Given the description of an element on the screen output the (x, y) to click on. 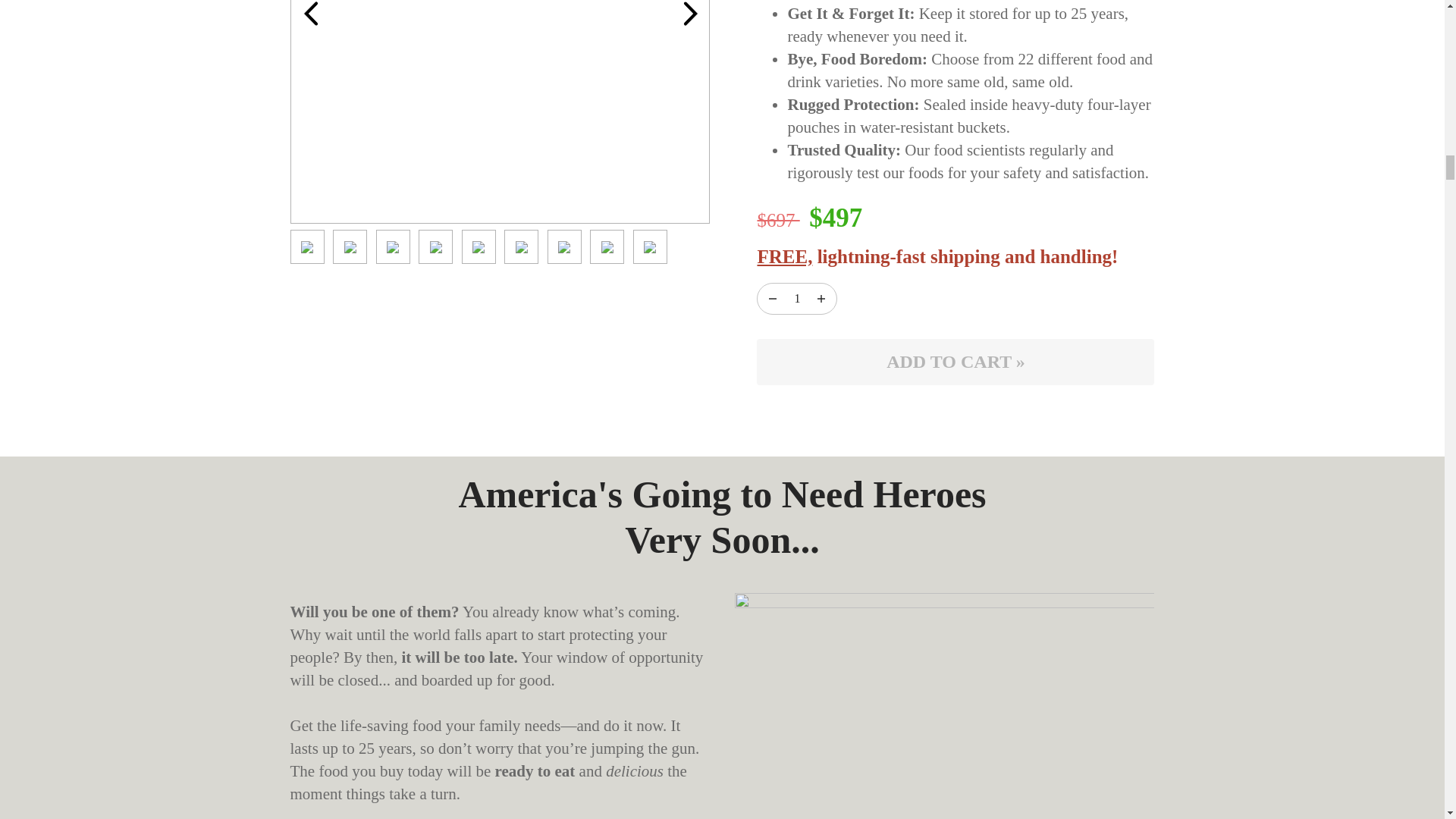
Quantity (820, 298)
Go to the previous slide (310, 14)
Go to the next slide Next (690, 16)
1 (796, 298)
Go to the previous slide Preview (310, 16)
Quantity (796, 298)
Go to the next slide (690, 14)
Quantity (772, 298)
